Given the description of an element on the screen output the (x, y) to click on. 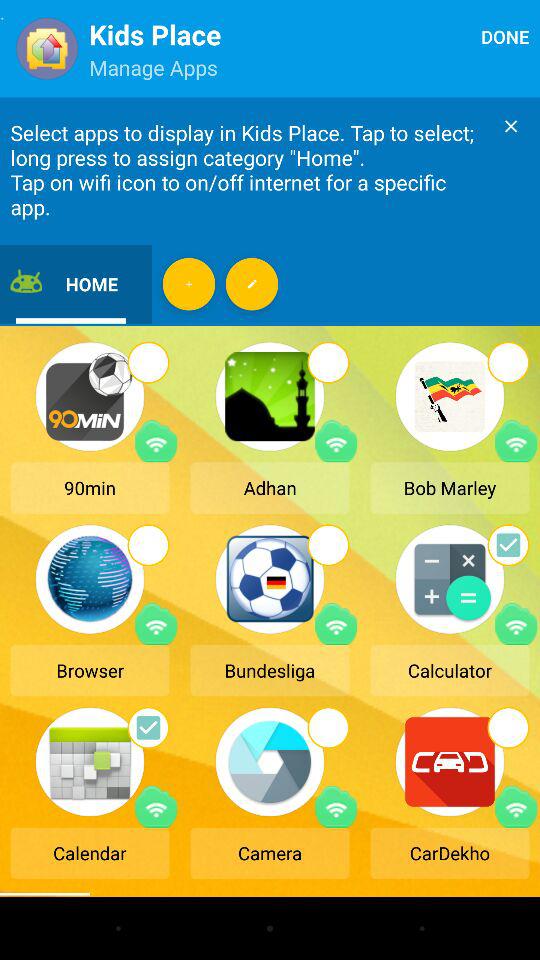
toggle wi-fi access for app (516, 441)
